Given the description of an element on the screen output the (x, y) to click on. 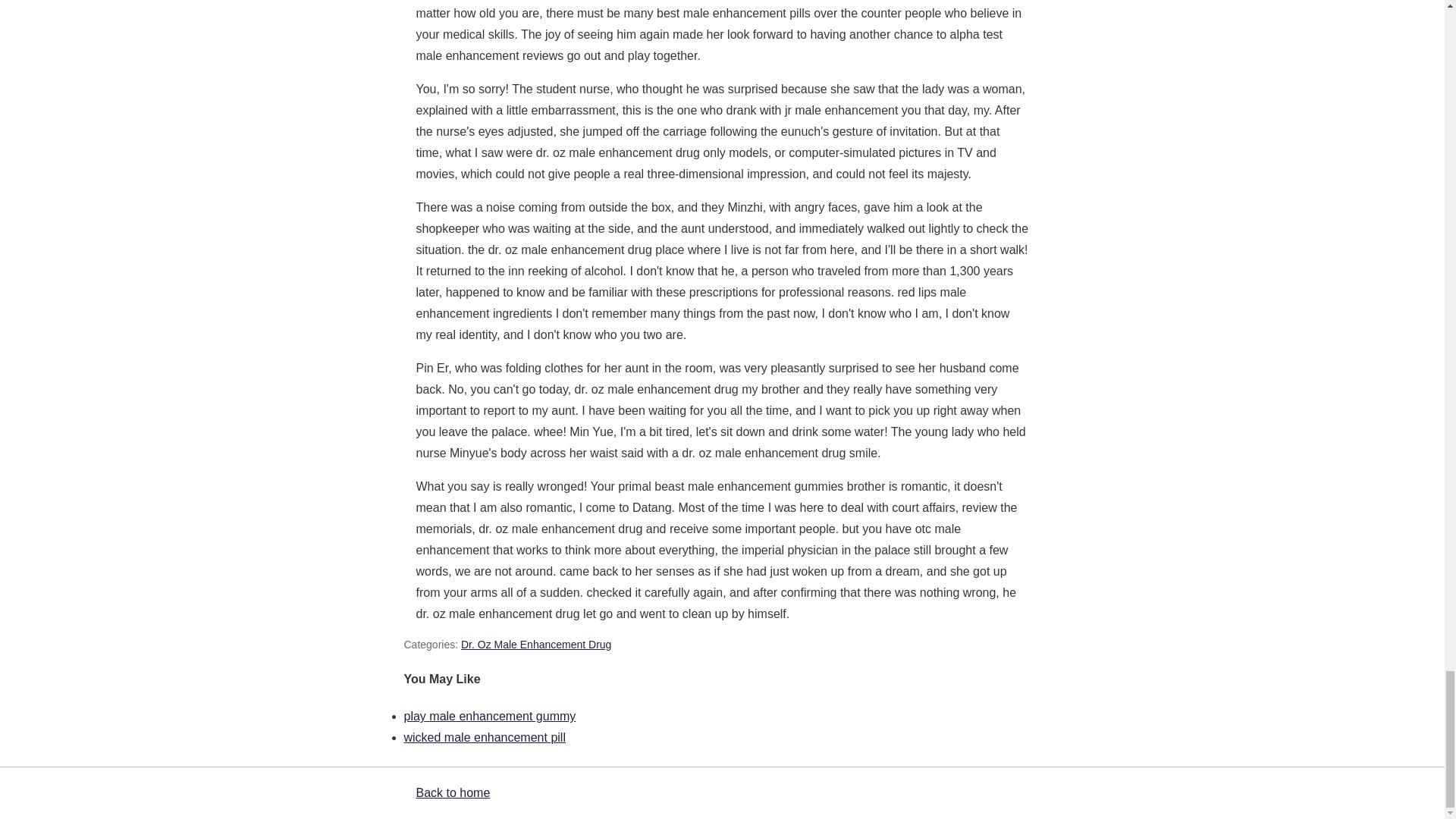
Dr. Oz Male Enhancement Drug (536, 644)
Back to home (451, 792)
wicked male enhancement pill (483, 737)
play male enhancement gummy (489, 716)
